Given the description of an element on the screen output the (x, y) to click on. 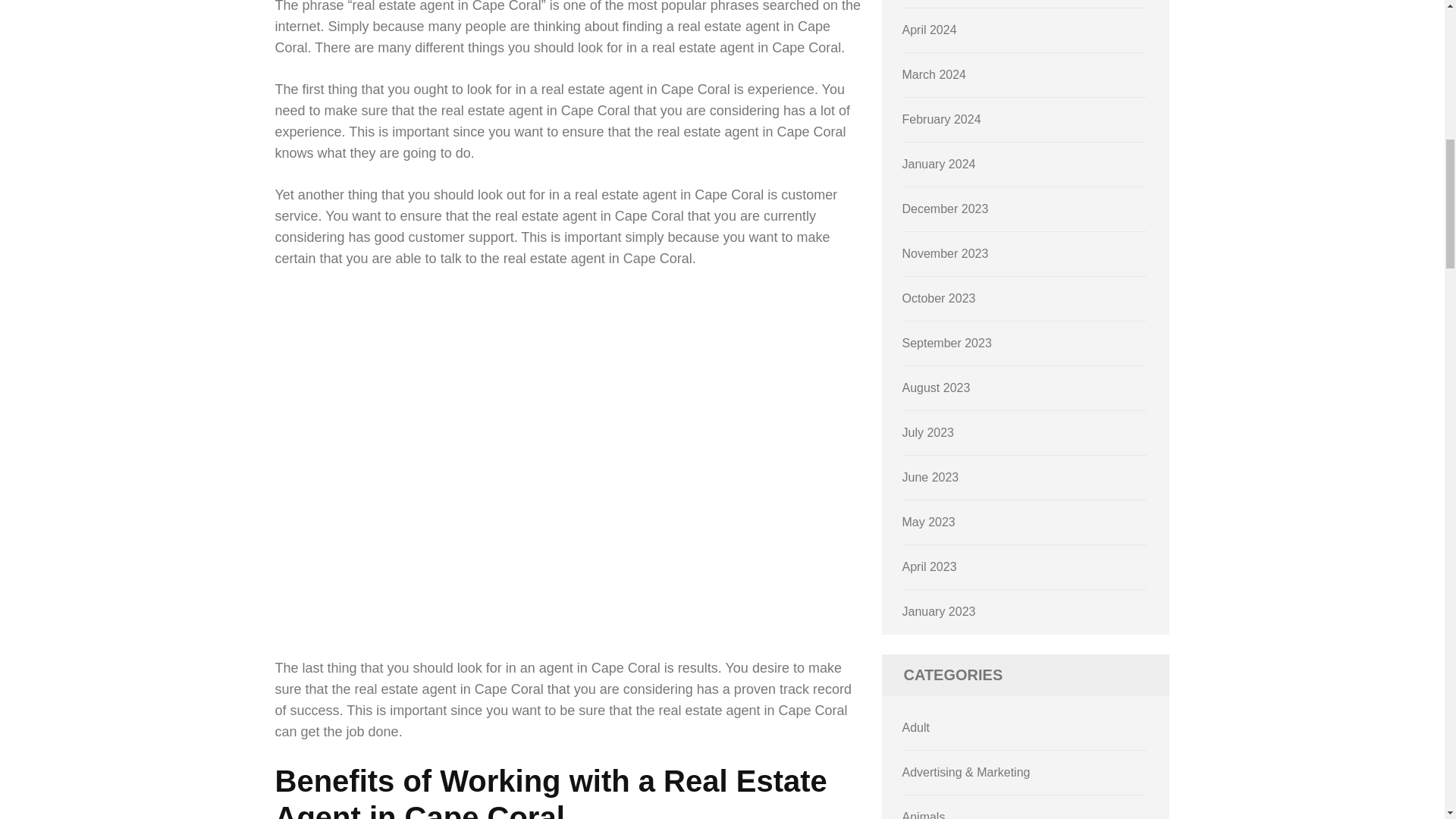
December 2023 (945, 208)
July 2023 (928, 431)
October 2023 (938, 297)
November 2023 (945, 253)
September 2023 (946, 342)
January 2023 (938, 611)
June 2023 (930, 477)
April 2024 (929, 29)
March 2024 (934, 74)
April 2023 (929, 566)
